Given the description of an element on the screen output the (x, y) to click on. 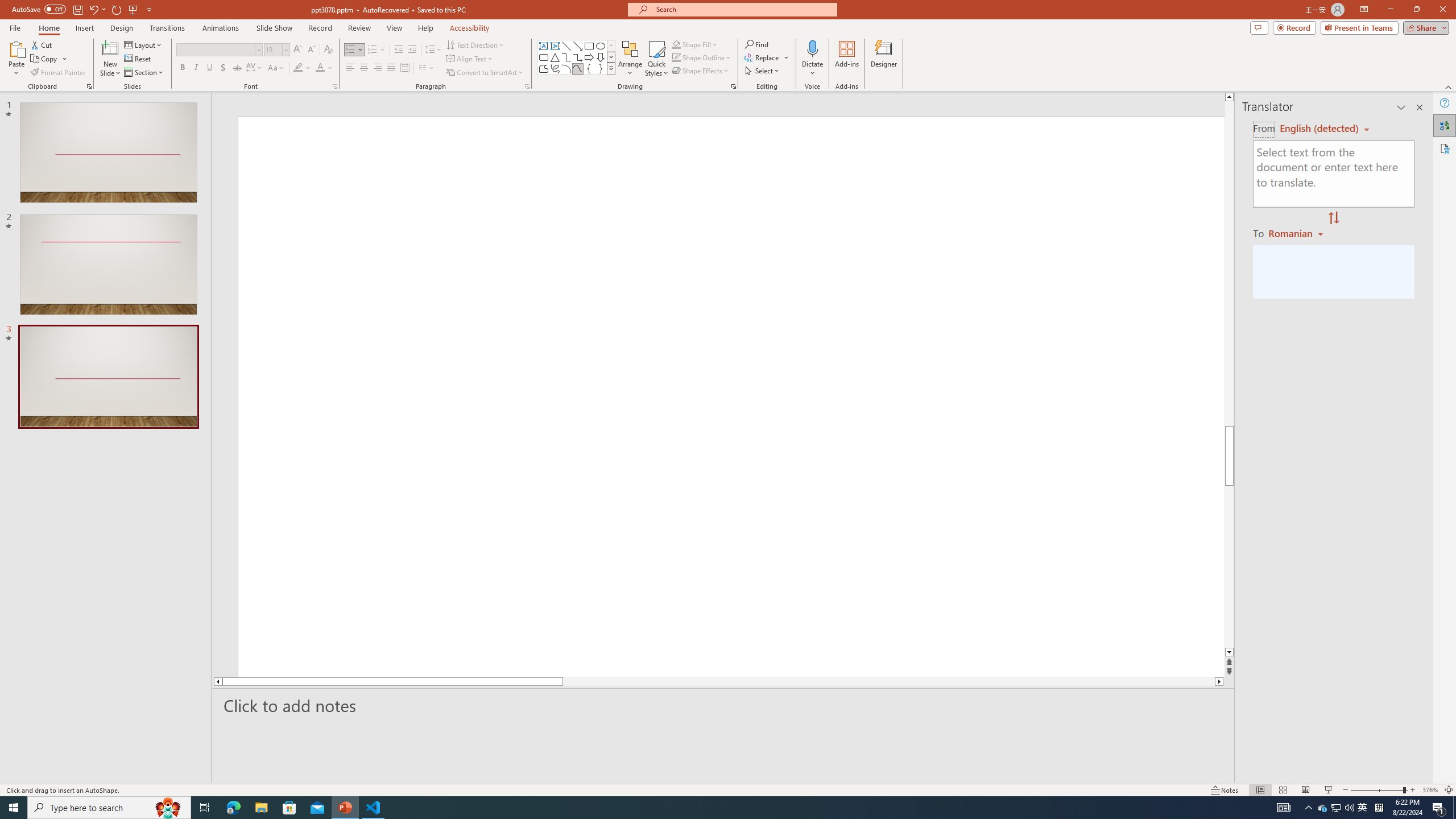
Shape Outline Green, Accent 1 (675, 56)
